Given the description of an element on the screen output the (x, y) to click on. 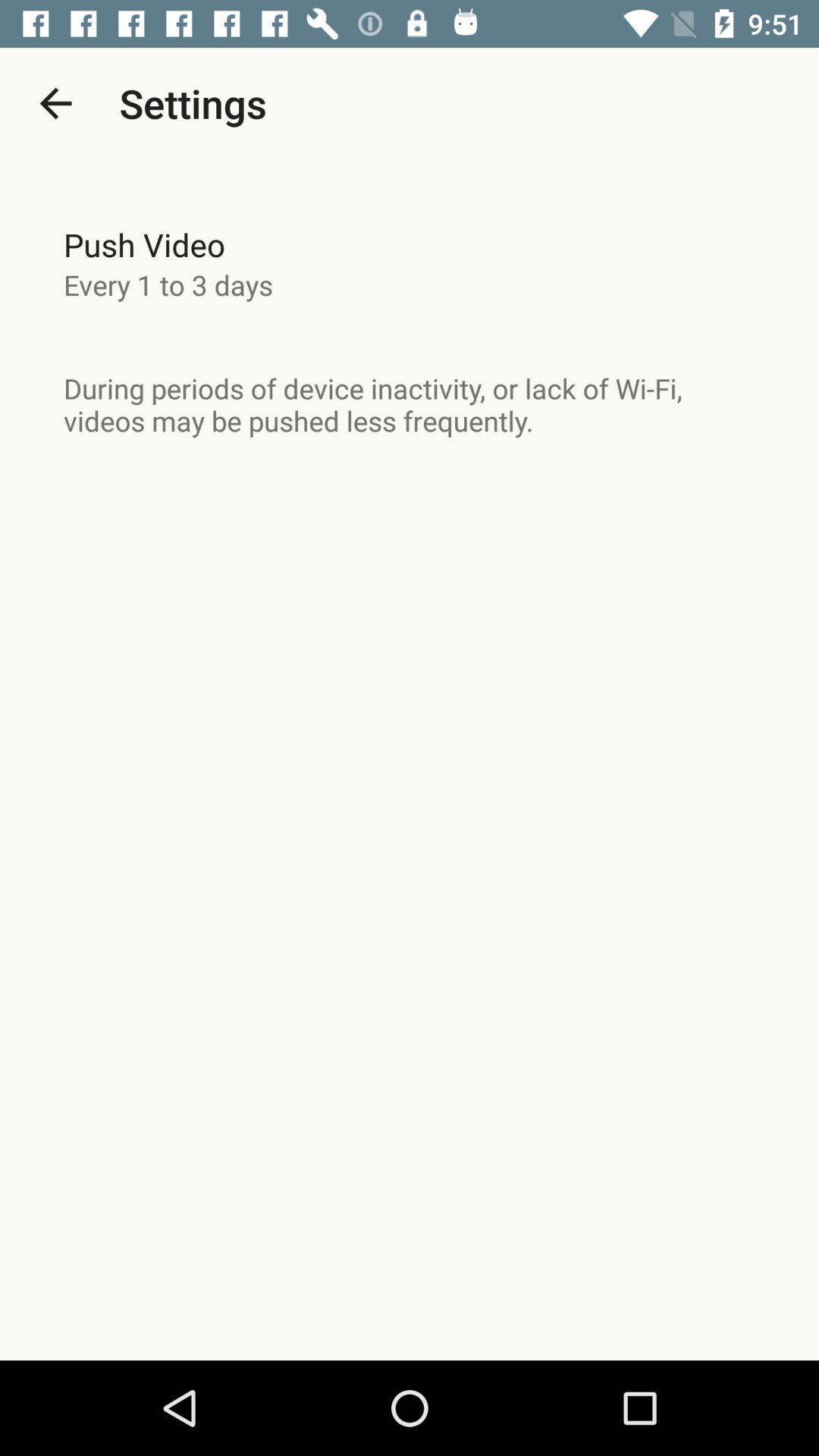
select the icon to the left of the settings (55, 103)
